Given the description of an element on the screen output the (x, y) to click on. 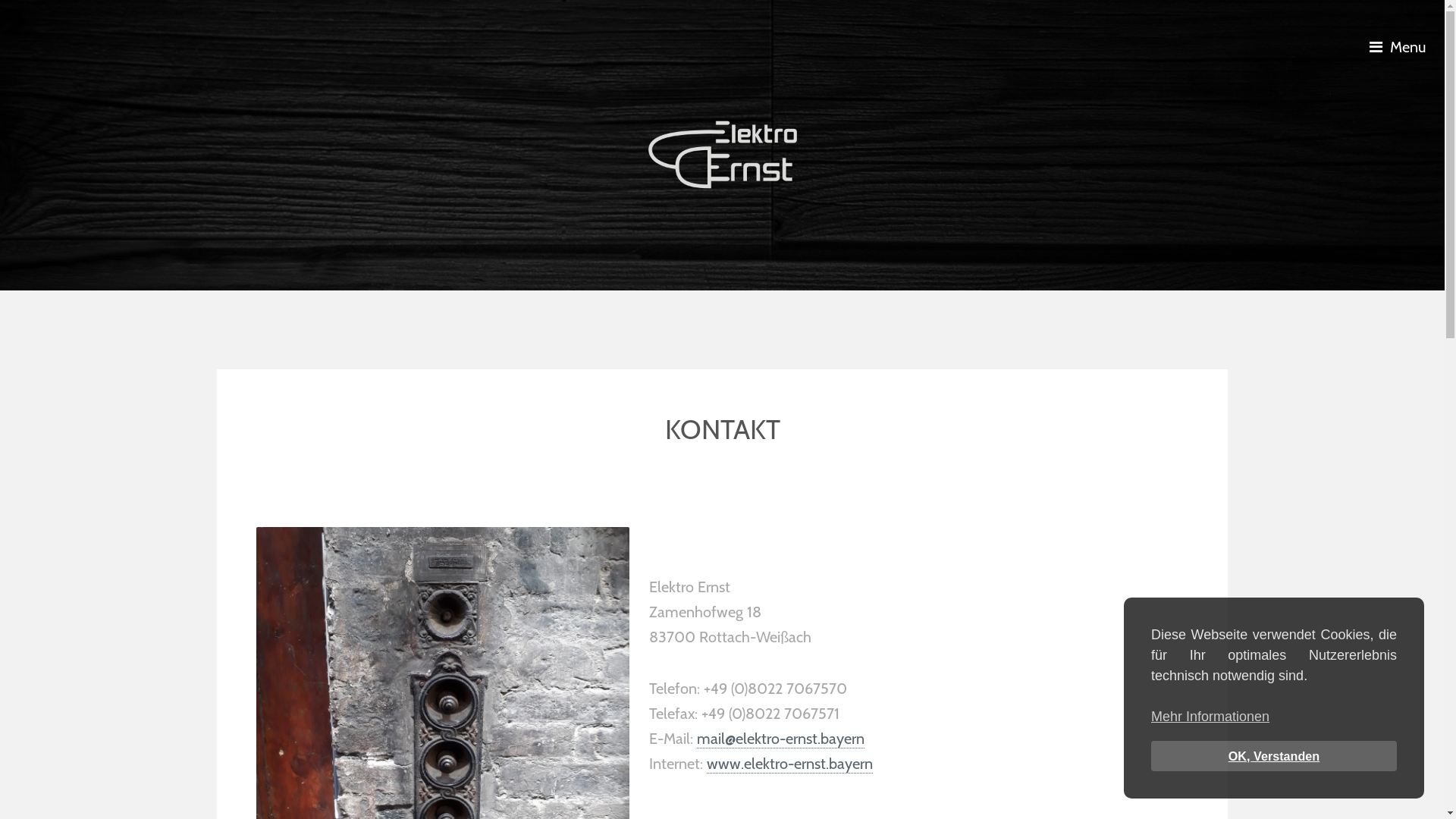
mail@elektro-ernst.bayern Element type: text (780, 738)
Menu Element type: text (1401, 47)
OK, Verstanden Element type: text (1273, 755)
Elektro Ernst Tegernsee | Kontakt Element type: hover (721, 154)
Mehr Informationen Element type: text (1210, 716)
www.elektro-ernst.bayern Element type: text (789, 763)
